Given the description of an element on the screen output the (x, y) to click on. 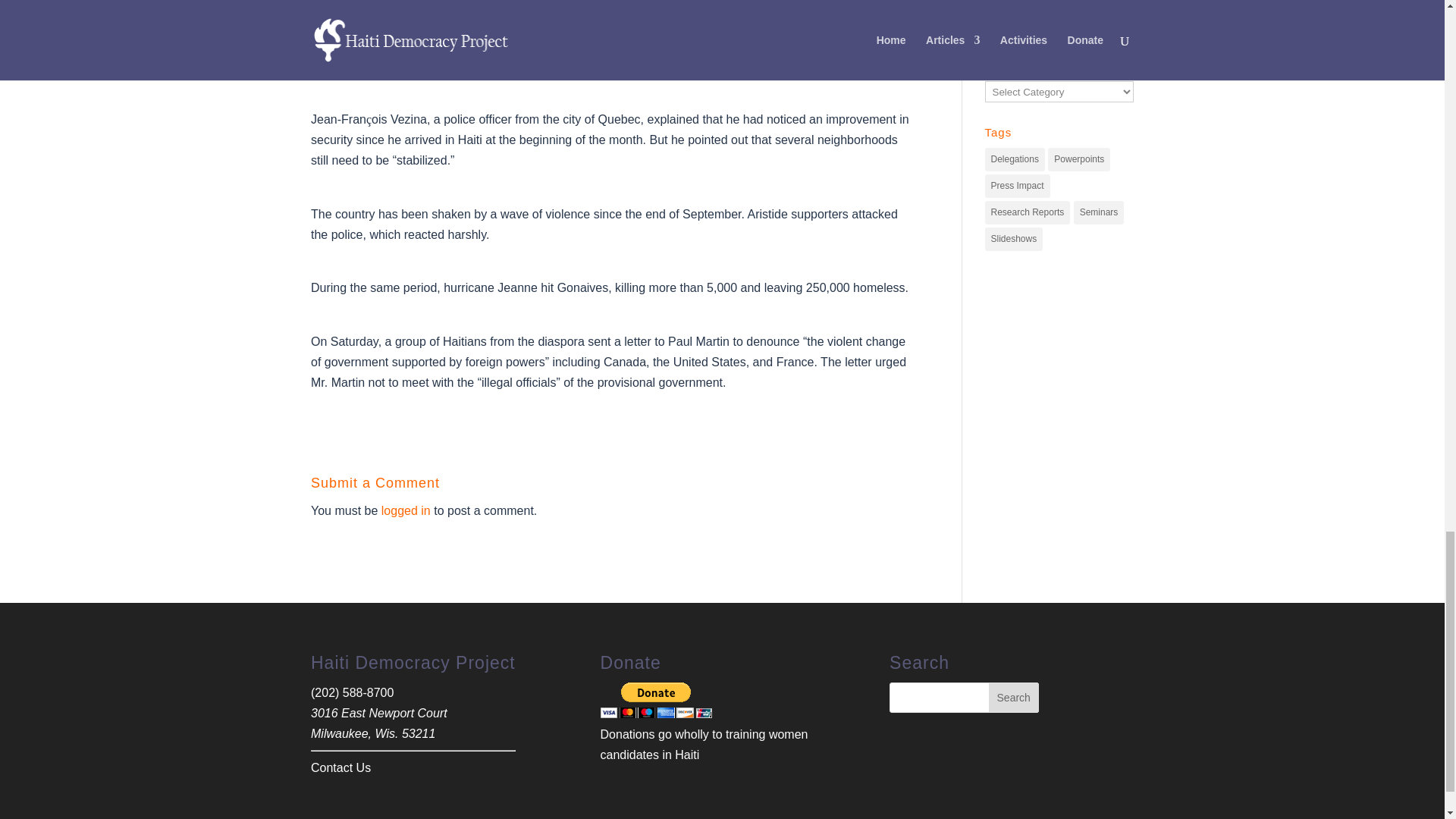
Search (1013, 697)
logged in (405, 510)
